Given the description of an element on the screen output the (x, y) to click on. 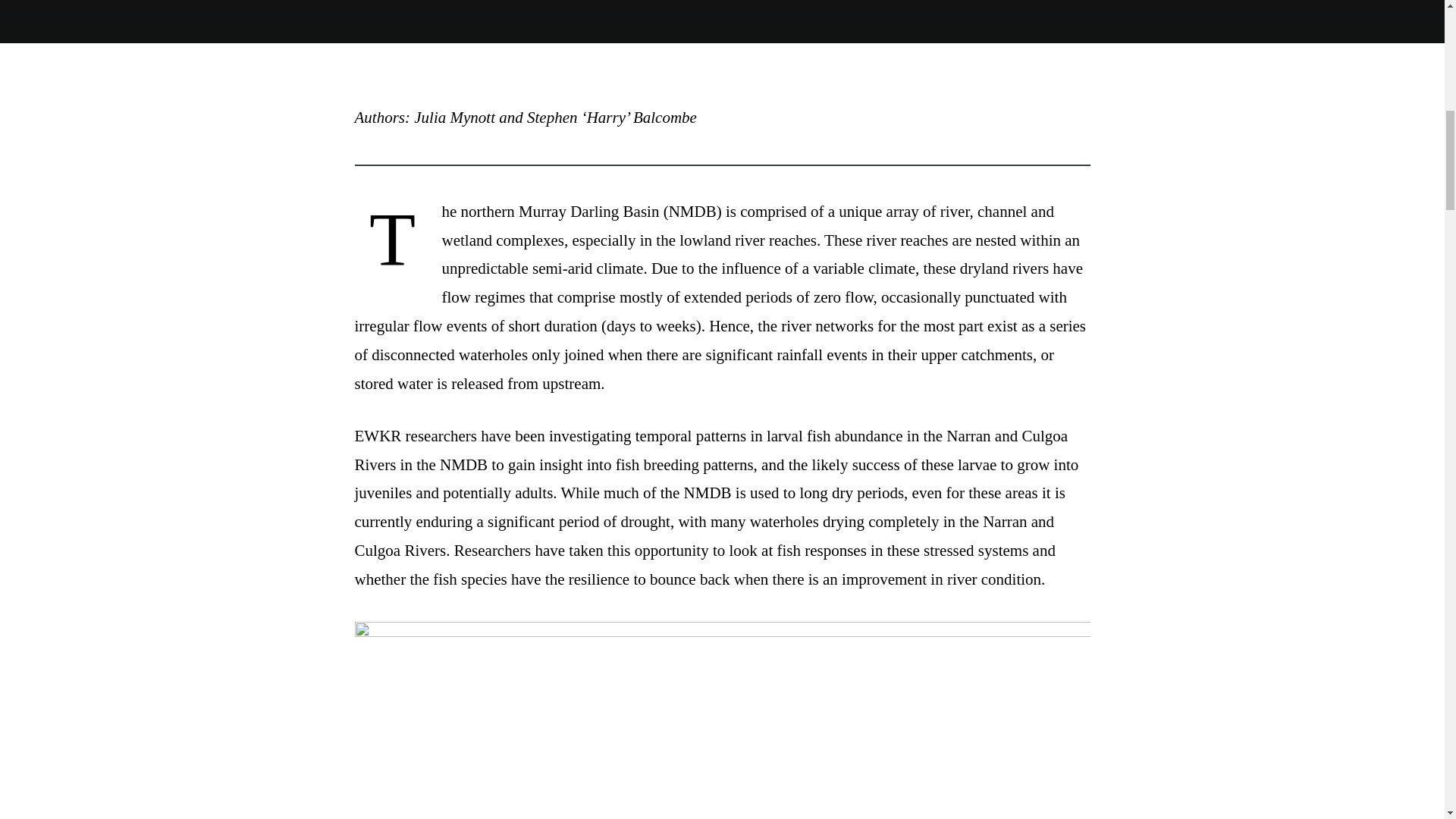
Leave a comment (403, 1)
